Given the description of an element on the screen output the (x, y) to click on. 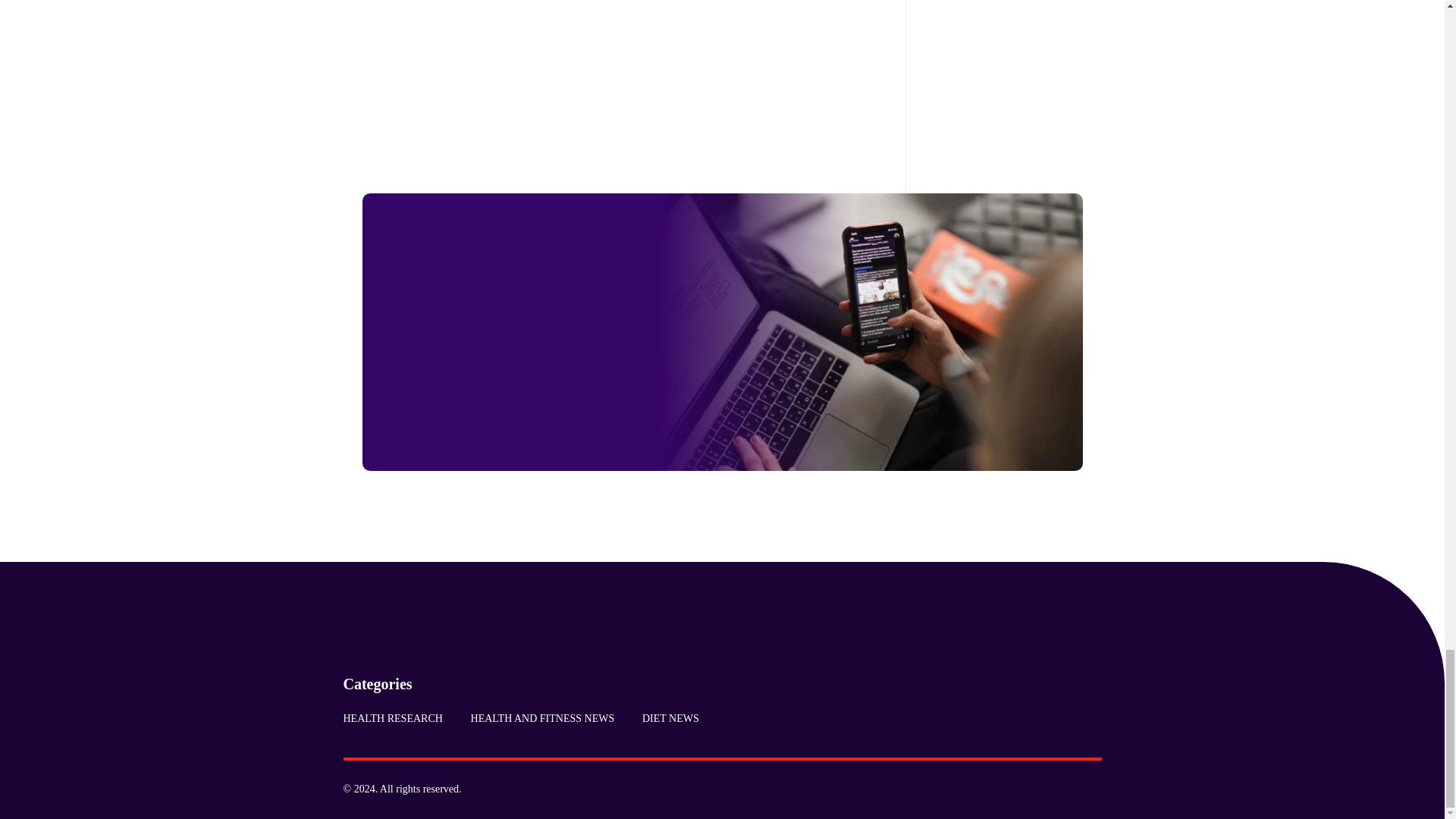
Sign Me Up (534, 418)
DIET NEWS (663, 718)
HEALTH RESEARCH (399, 718)
HEALTH AND FITNESS NEWS (542, 718)
